Given the description of an element on the screen output the (x, y) to click on. 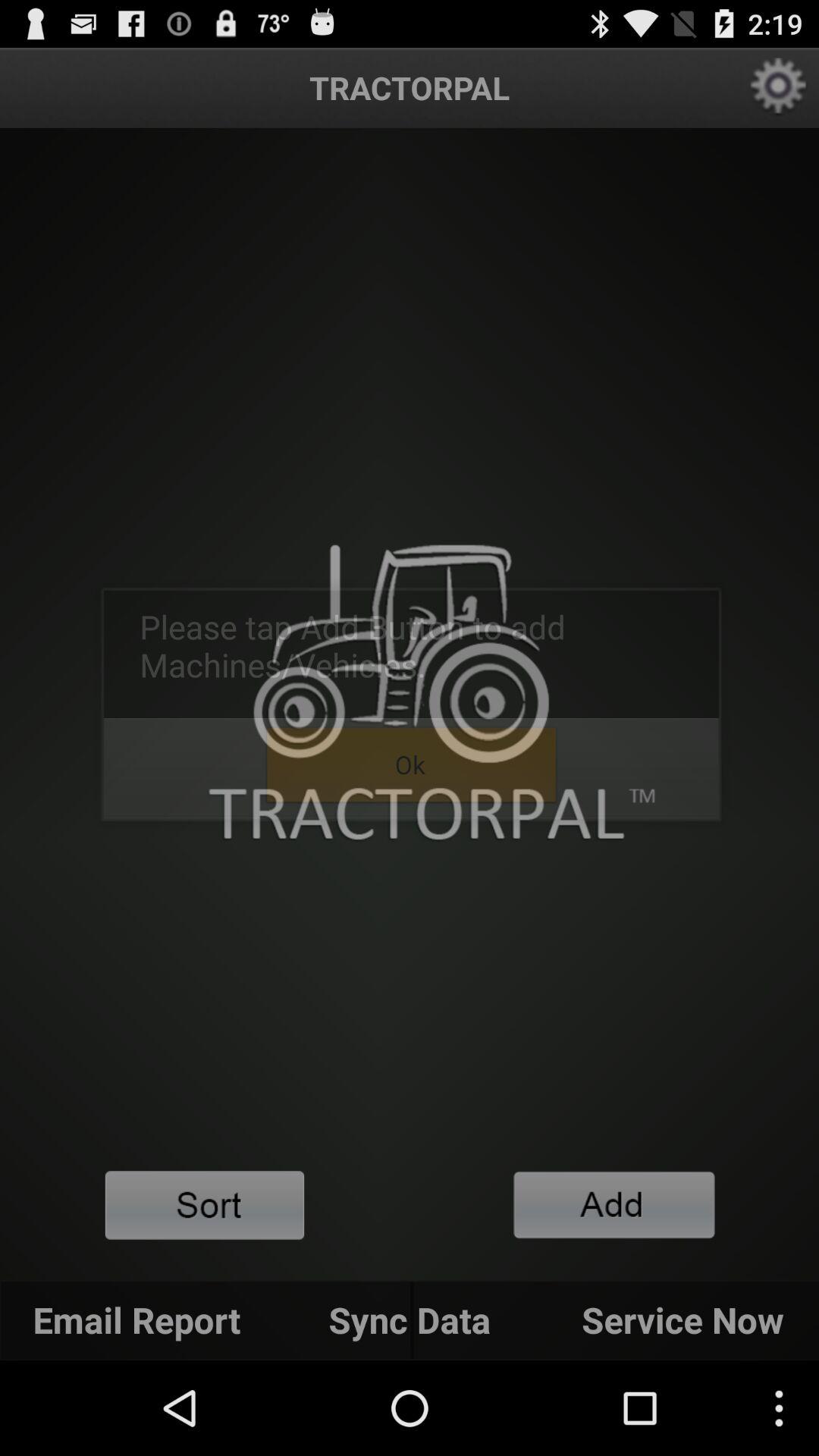
options and settings (778, 87)
